Given the description of an element on the screen output the (x, y) to click on. 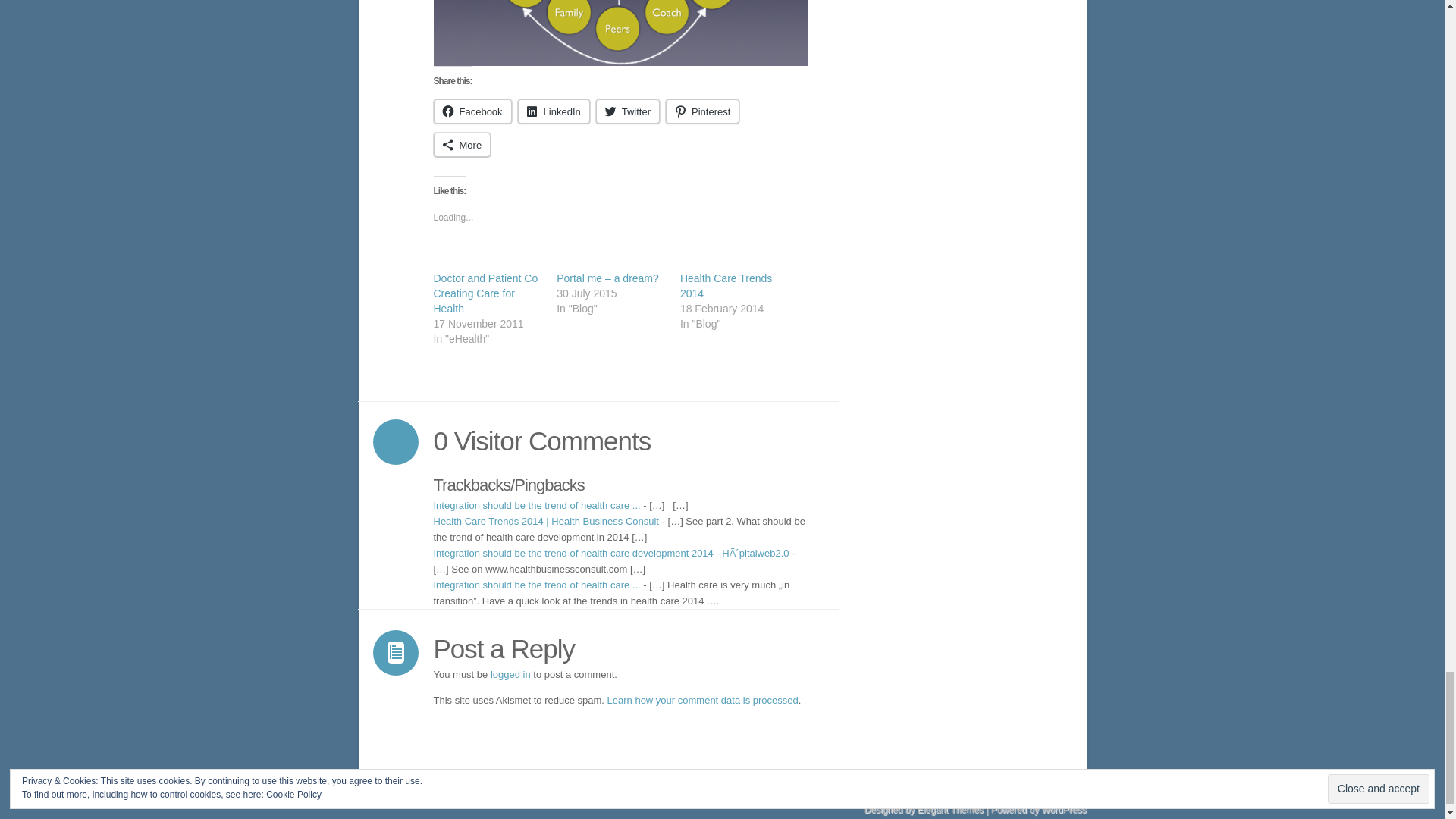
Click to share on Twitter (627, 111)
Doctor and Patient Co Creating Care for Health (485, 292)
Click to share on LinkedIn (553, 111)
Click to share on Pinterest (702, 111)
Click to share on Facebook (472, 111)
